Given the description of an element on the screen output the (x, y) to click on. 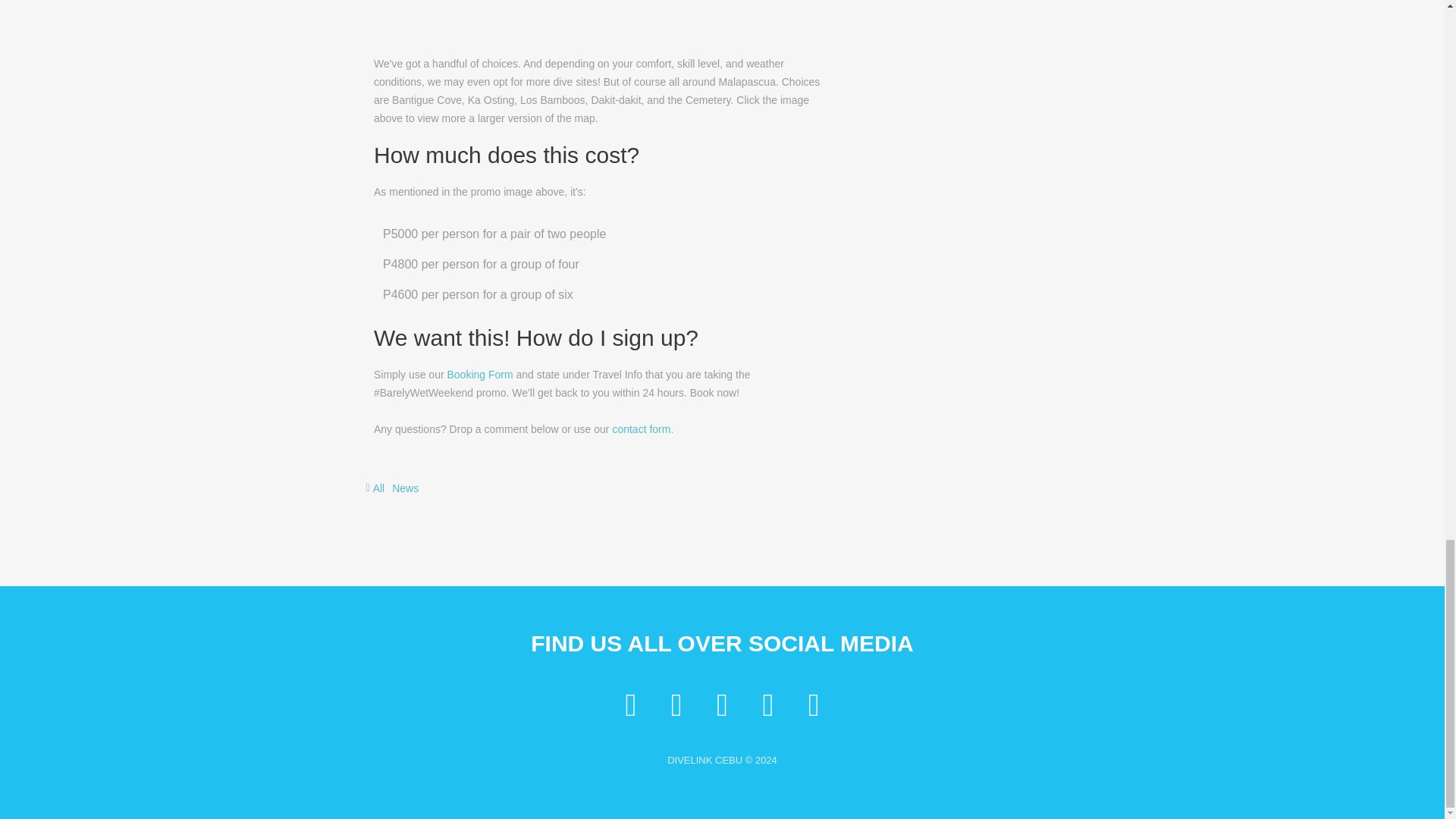
News (405, 488)
Booking Form (479, 374)
All (378, 488)
contact form (640, 428)
